Given the description of an element on the screen output the (x, y) to click on. 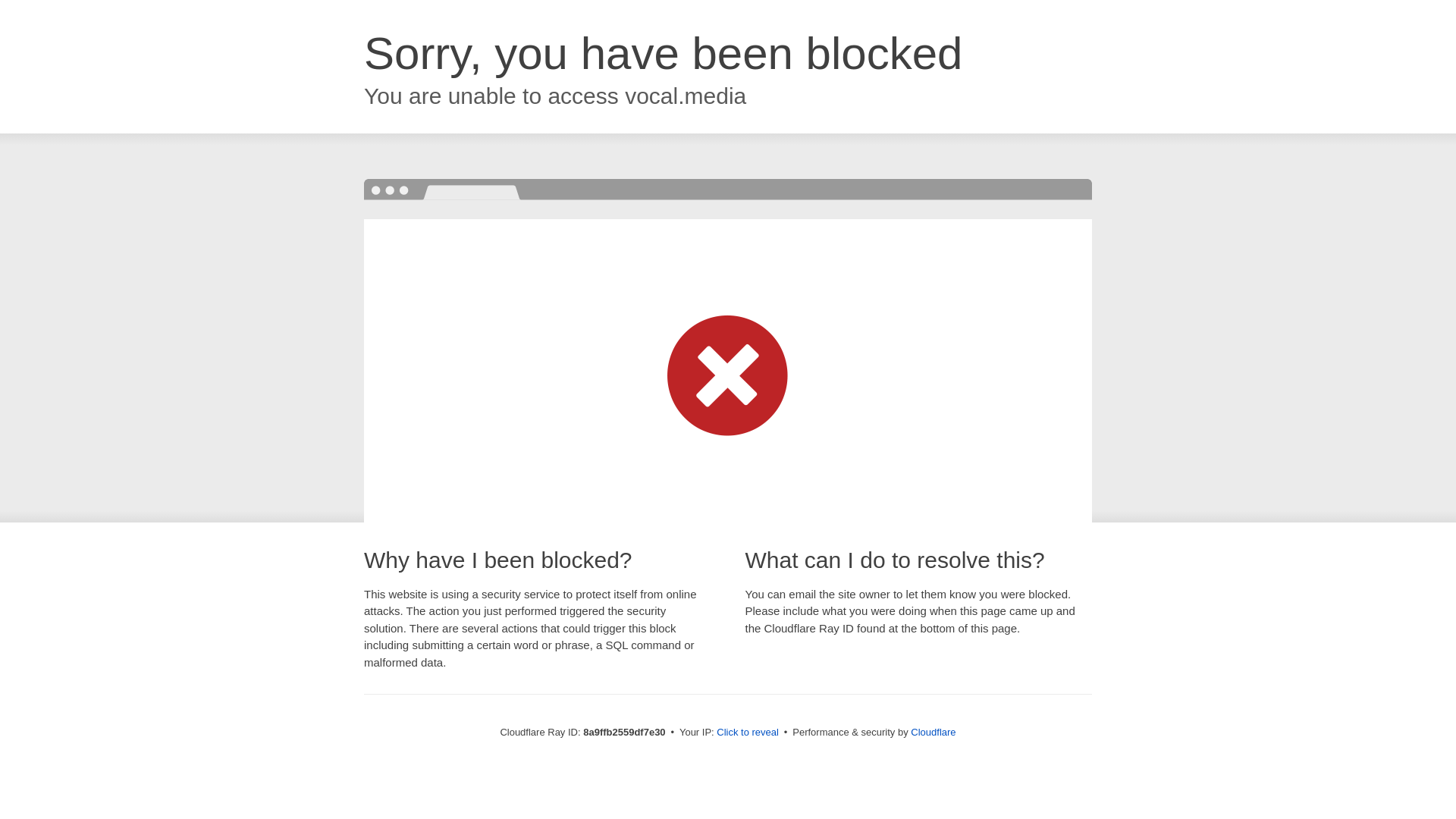
Click to reveal (747, 732)
Cloudflare (933, 731)
